Given the description of an element on the screen output the (x, y) to click on. 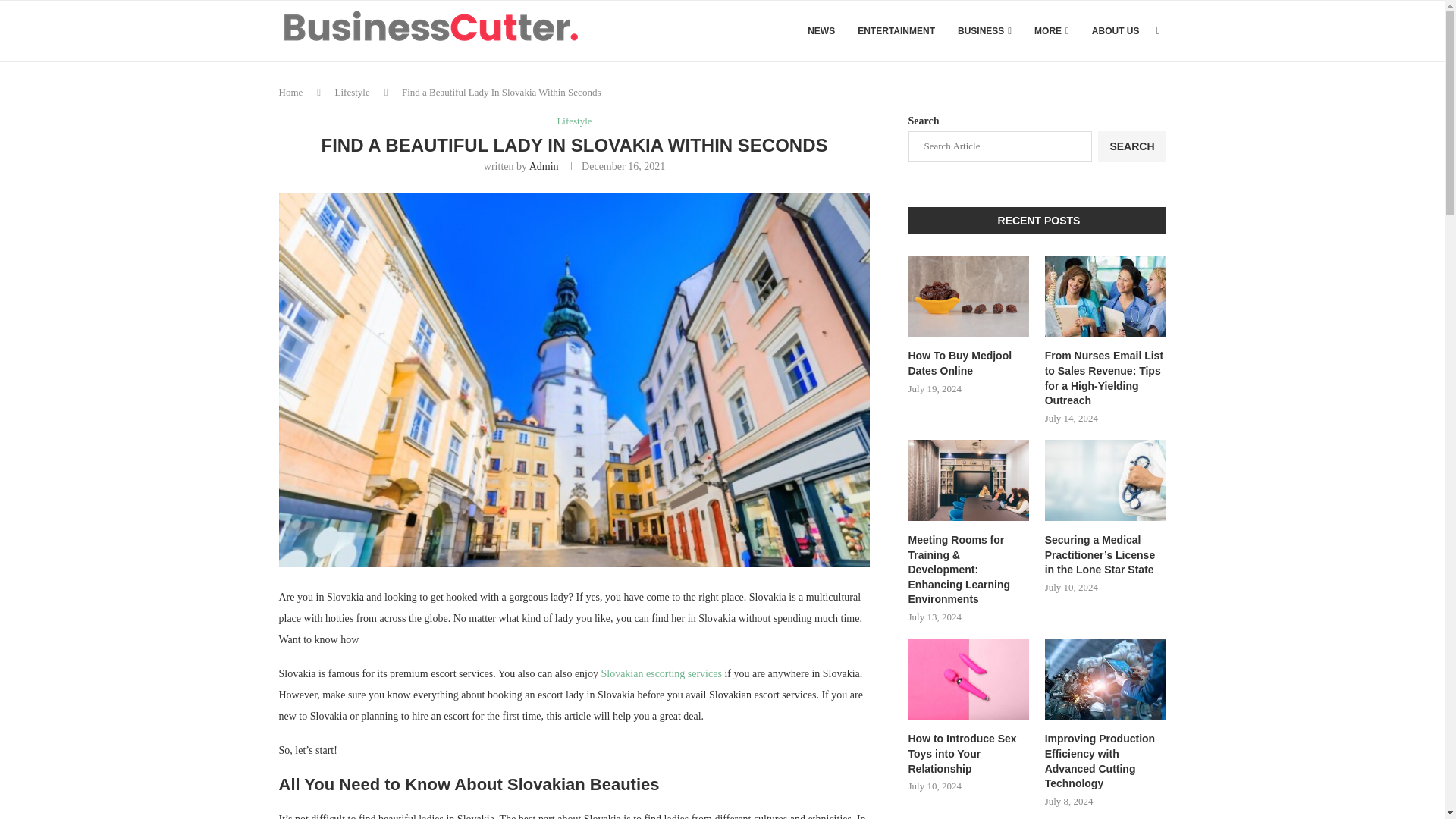
ENTERTAINMENT (895, 30)
Admin (544, 165)
Home (290, 91)
Lifestyle (351, 91)
Slovakian escorting services (659, 673)
Lifestyle (573, 121)
